Given the description of an element on the screen output the (x, y) to click on. 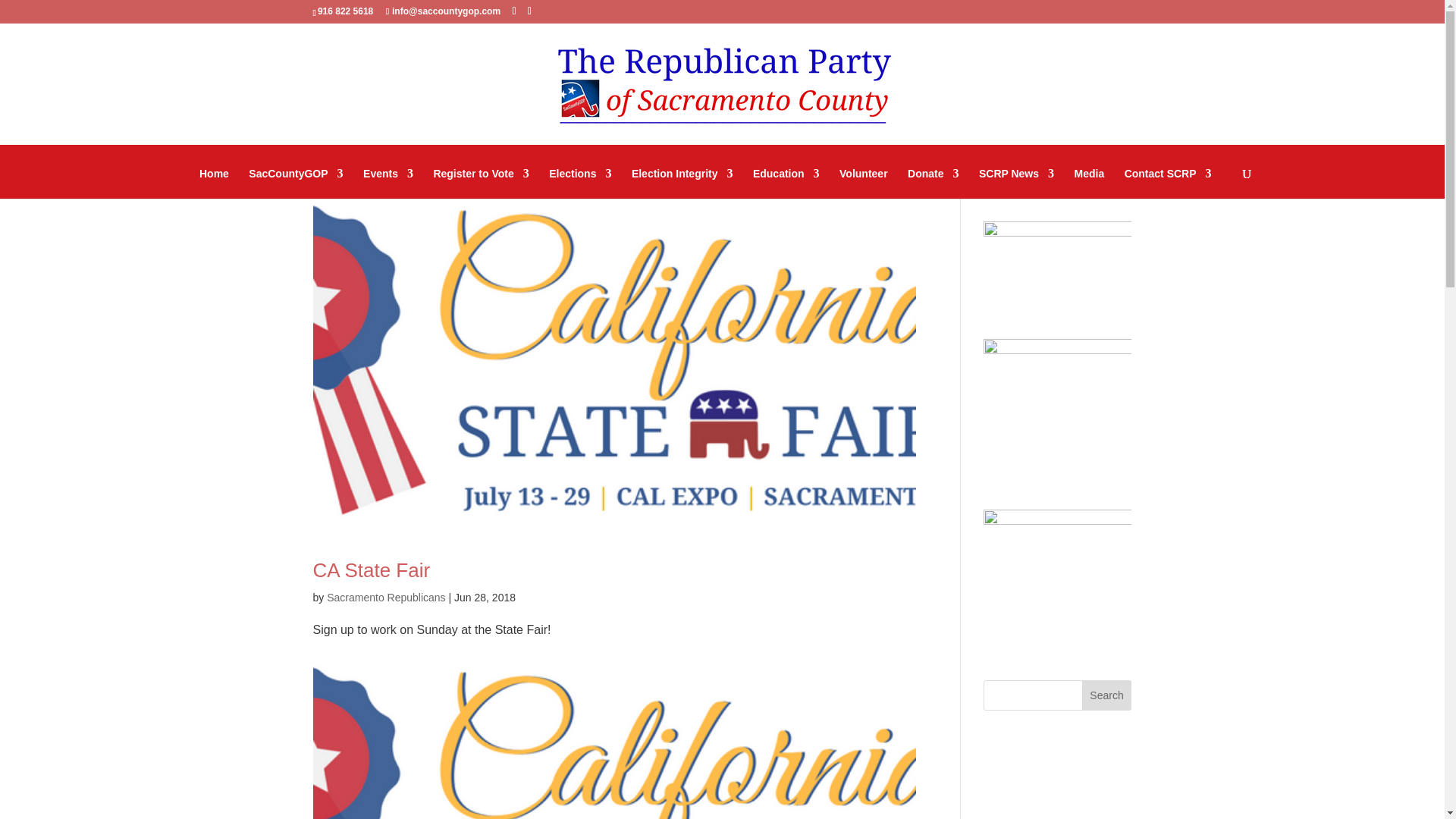
Register to Vote (480, 179)
SacCountyGOP (295, 179)
Elections (579, 179)
Posts by Sacramento Republicans (385, 597)
Home (213, 179)
Election Integrity (682, 179)
Volunteer (864, 179)
Education (785, 179)
Events (387, 179)
Donate (932, 179)
